Given the description of an element on the screen output the (x, y) to click on. 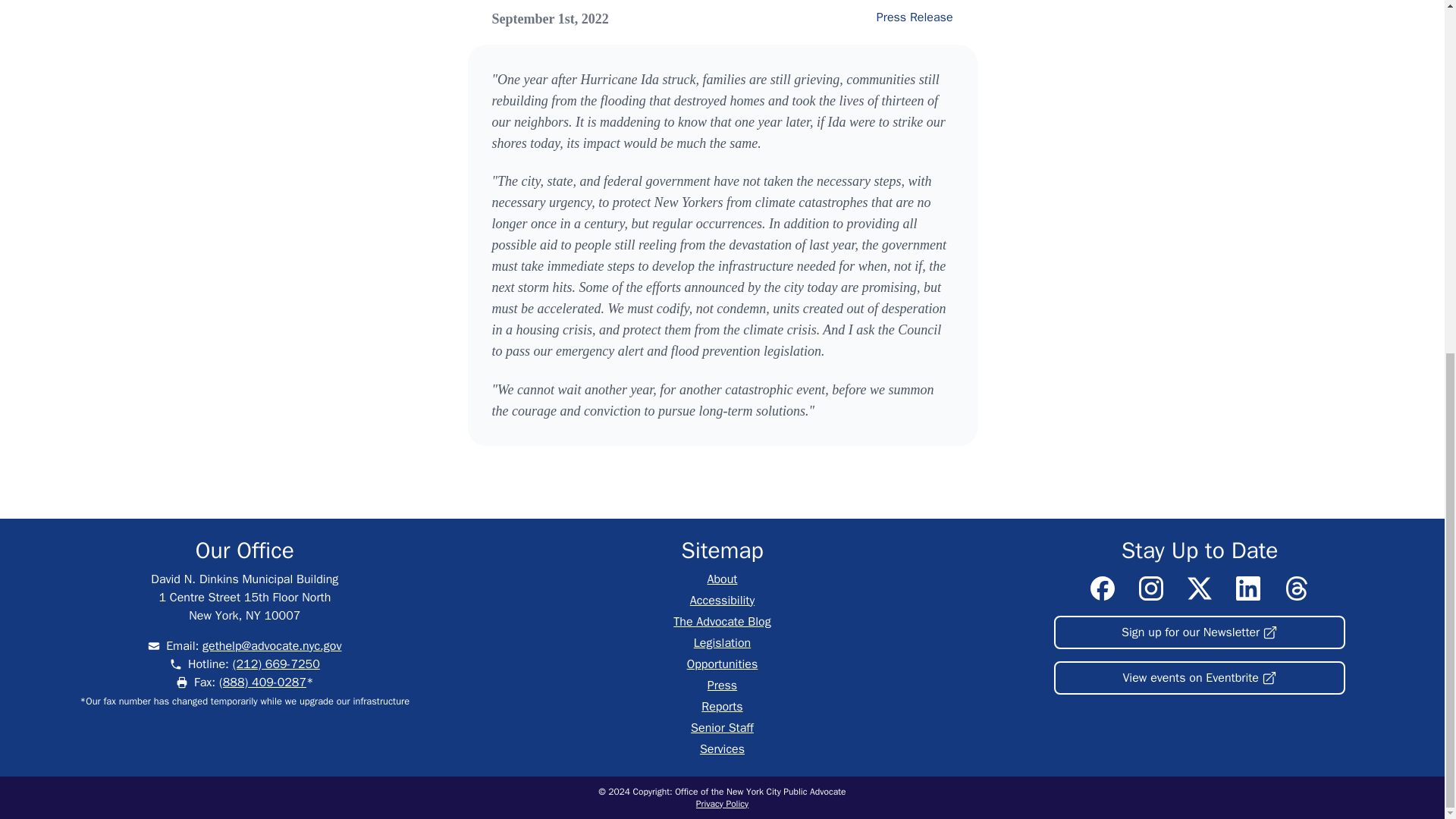
Reports (721, 706)
Sign up for our Newsletter (1199, 632)
Privacy Policy (721, 803)
View events on Eventbrite (1199, 677)
Press (721, 685)
The Advocate Blog (721, 621)
Legislation (722, 642)
About (722, 579)
Senior Staff (722, 727)
Opportunities (722, 663)
Services (722, 749)
Accessibility (722, 600)
